Given the description of an element on the screen output the (x, y) to click on. 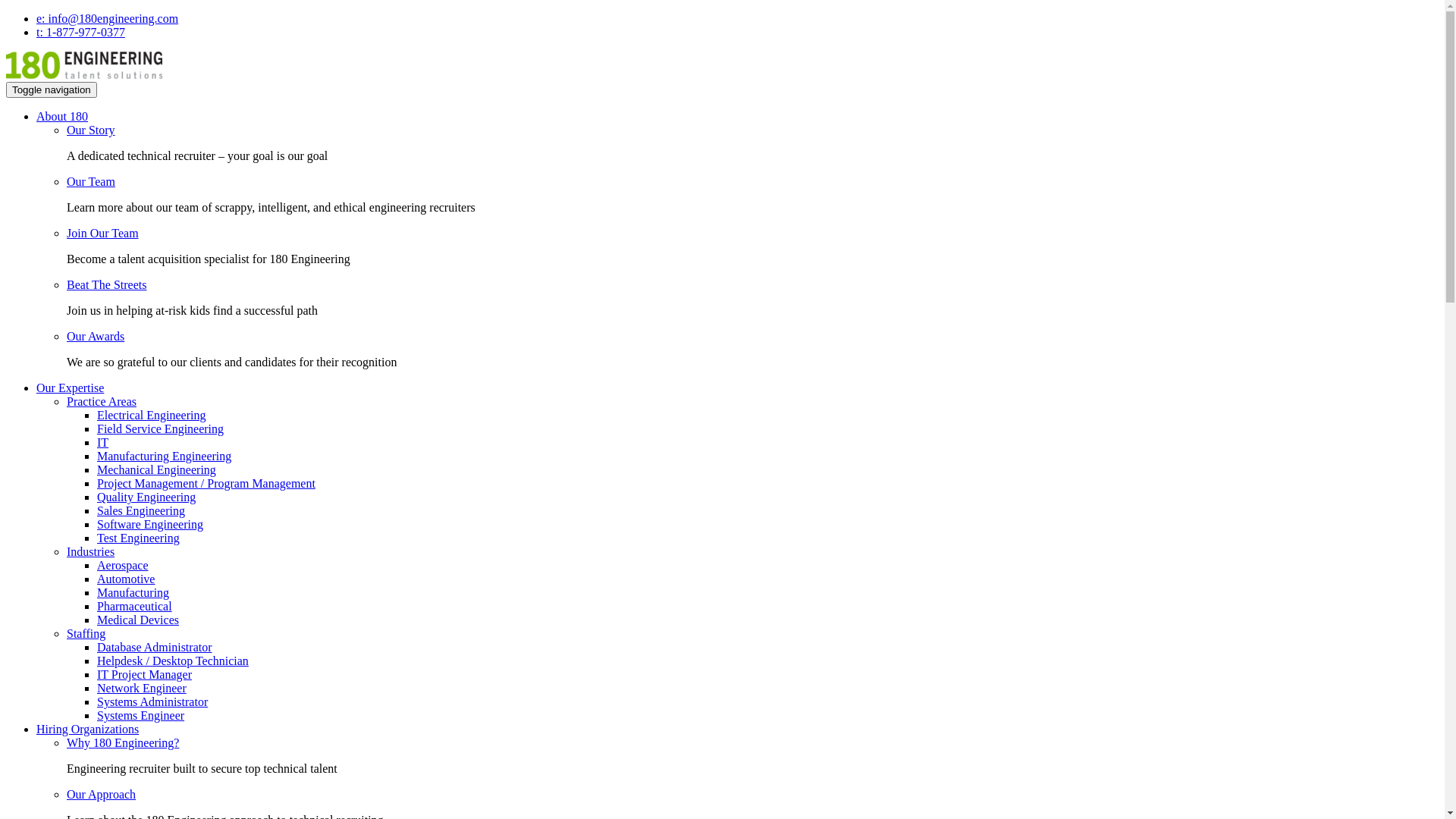
Why 180 Engineering? Element type: text (122, 742)
Field Service Engineering Element type: text (160, 428)
Our Approach Element type: text (100, 793)
Practice Areas Element type: text (101, 401)
Our Expertise Element type: text (69, 387)
Network Engineer Element type: text (141, 687)
Aerospace Element type: text (122, 564)
Medical Devices Element type: text (137, 619)
Software Engineering Element type: text (150, 523)
Automotive Element type: text (125, 578)
Industries Element type: text (90, 551)
Our Story Element type: text (90, 129)
e: info@180engineering.com Element type: text (107, 18)
Manufacturing Engineering Element type: text (164, 455)
t: 1-877-977-0377 Element type: text (80, 31)
Toggle navigation Element type: text (51, 89)
Mechanical Engineering Element type: text (156, 469)
Manufacturing Element type: text (133, 592)
Our Team Element type: text (90, 181)
Project Management / Program Management Element type: text (206, 482)
Electrical Engineering Element type: text (151, 414)
Our Awards Element type: text (95, 335)
Hiring Organizations Element type: text (87, 728)
Systems Administrator Element type: text (152, 701)
Logo Element type: text (84, 74)
IT Project Manager Element type: text (144, 674)
Database Administrator Element type: text (154, 646)
Systems Engineer Element type: text (140, 715)
Join Our Team Element type: text (102, 232)
Staffing Element type: text (85, 633)
Helpdesk / Desktop Technician Element type: text (172, 660)
Beat The Streets Element type: text (106, 284)
Quality Engineering Element type: text (146, 496)
Sales Engineering Element type: text (141, 510)
IT Element type: text (102, 442)
Pharmaceutical Element type: text (134, 605)
About 180 Element type: text (61, 115)
Test Engineering Element type: text (138, 537)
